Given the description of an element on the screen output the (x, y) to click on. 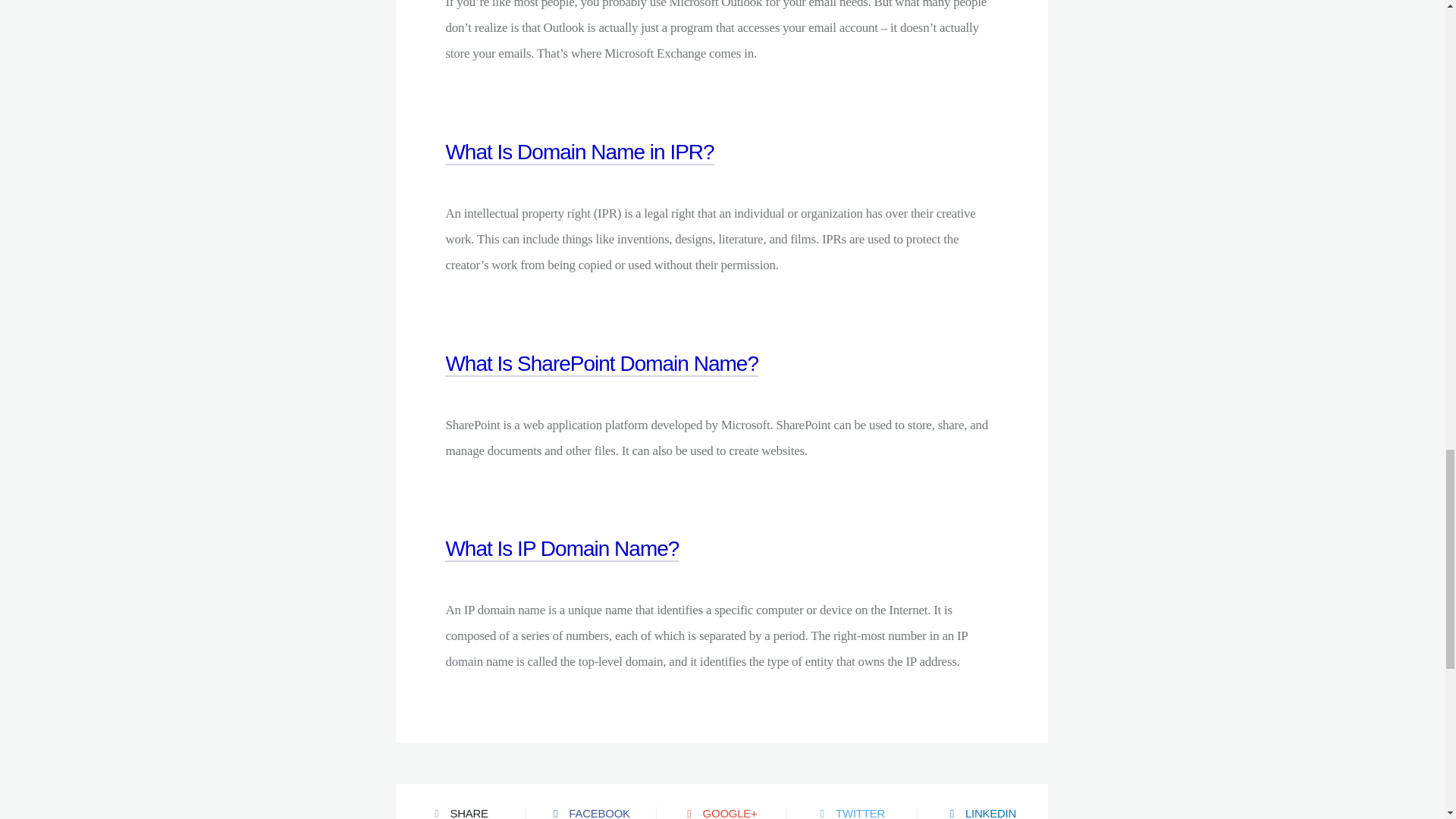
What Is SharePoint Domain Name? (601, 381)
TWITTER (852, 801)
What Is IP Domain Name? (561, 566)
FACEBOOK (590, 801)
LINKEDIN (982, 801)
What Is Domain Name in IPR? (579, 169)
